Given the description of an element on the screen output the (x, y) to click on. 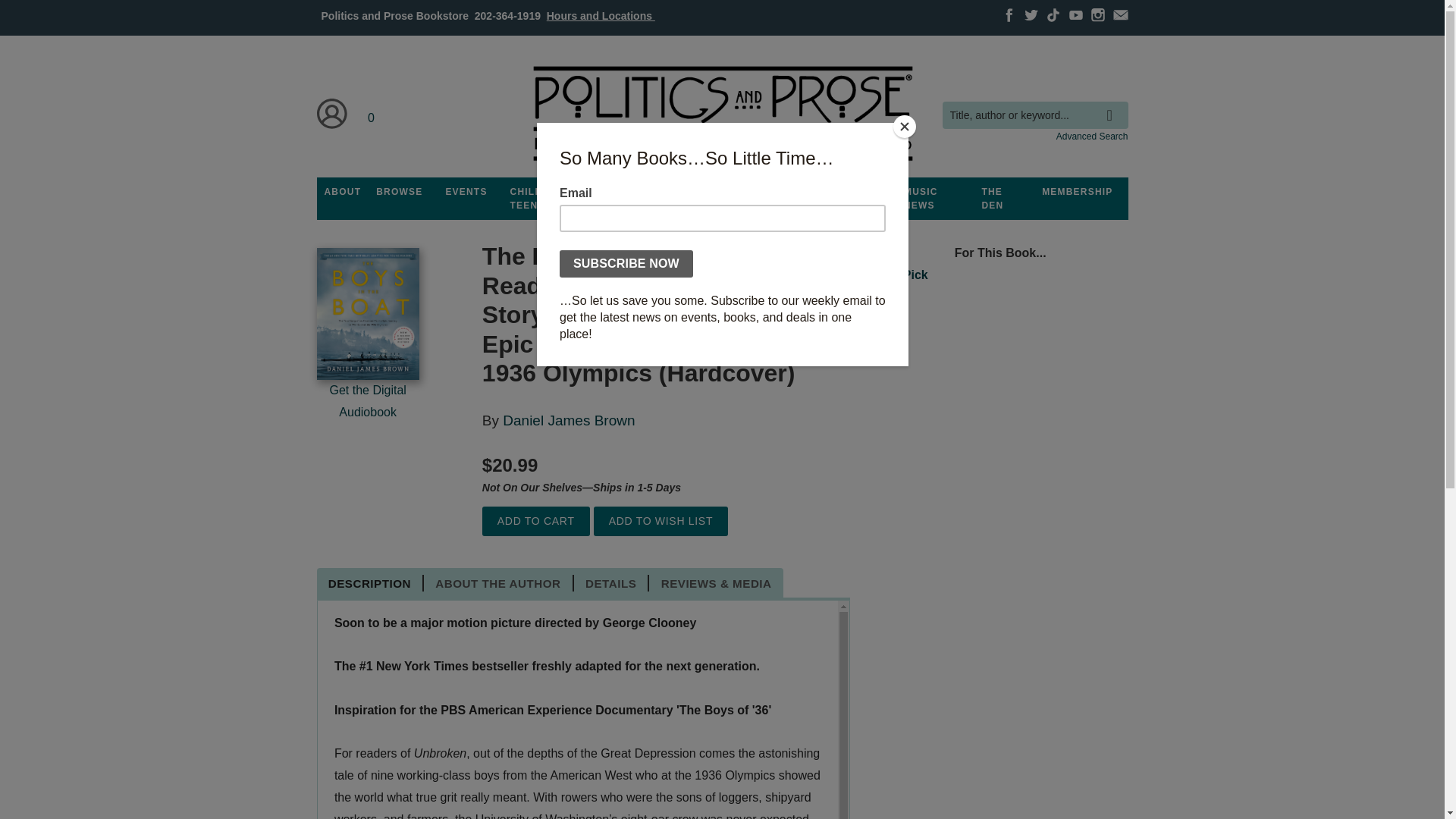
EVENTS (465, 191)
Add to Wish List (661, 521)
Children and Teens Department (548, 198)
search (1112, 103)
PROGRAMS (633, 191)
Advanced Search (1092, 136)
Add to Cart (535, 521)
See our store ours and locations (601, 15)
See our event calendar (465, 191)
search (1112, 103)
